Given the description of an element on the screen output the (x, y) to click on. 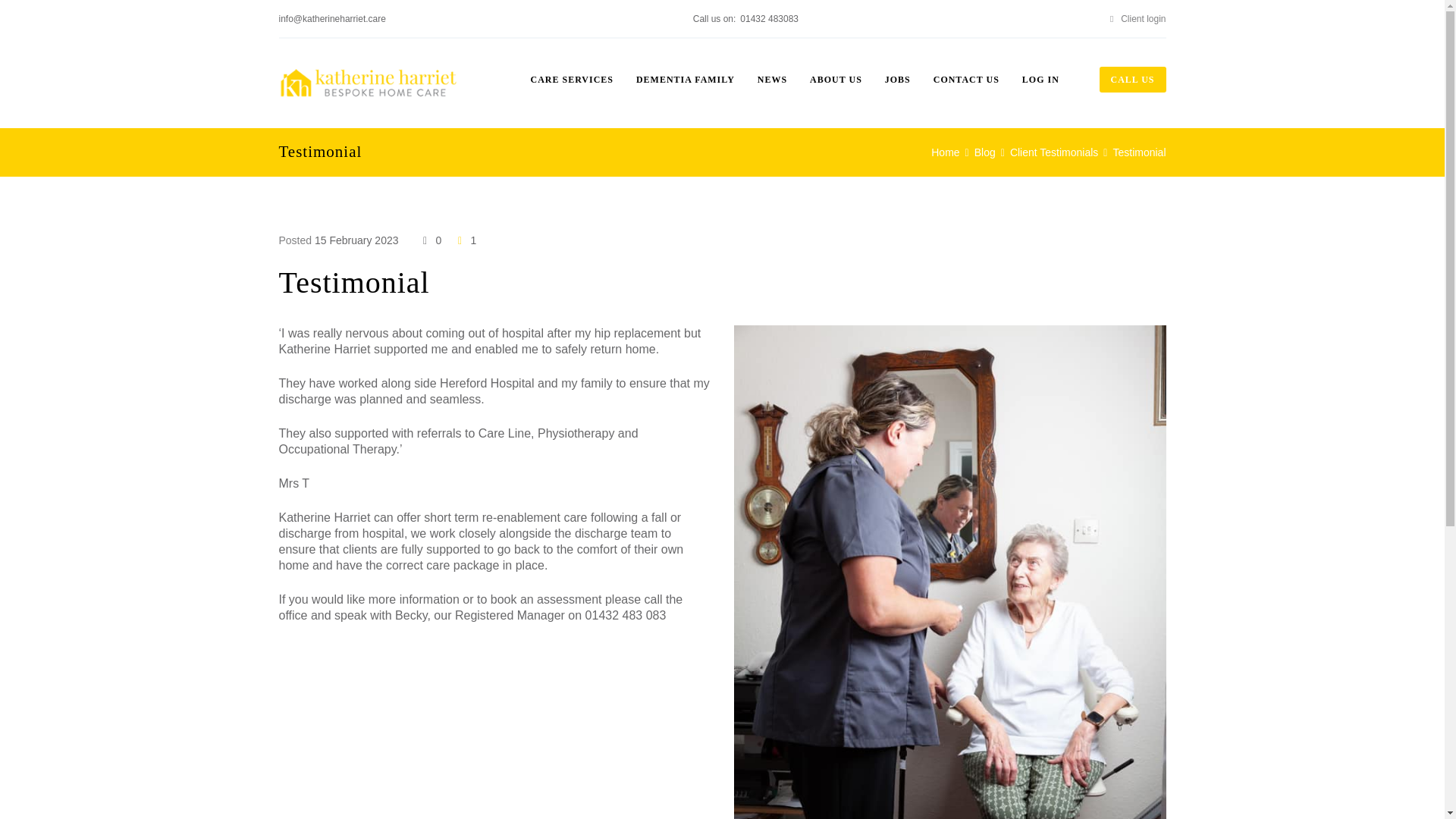
LOG IN (1040, 79)
Comments - 0 (429, 240)
01432 483083 (768, 18)
JOBS (897, 79)
NEWS (771, 79)
ABOUT US (835, 79)
CONTACT US (965, 79)
DEMENTIA FAMILY (684, 79)
Client login (1135, 19)
Like (464, 240)
